Given the description of an element on the screen output the (x, y) to click on. 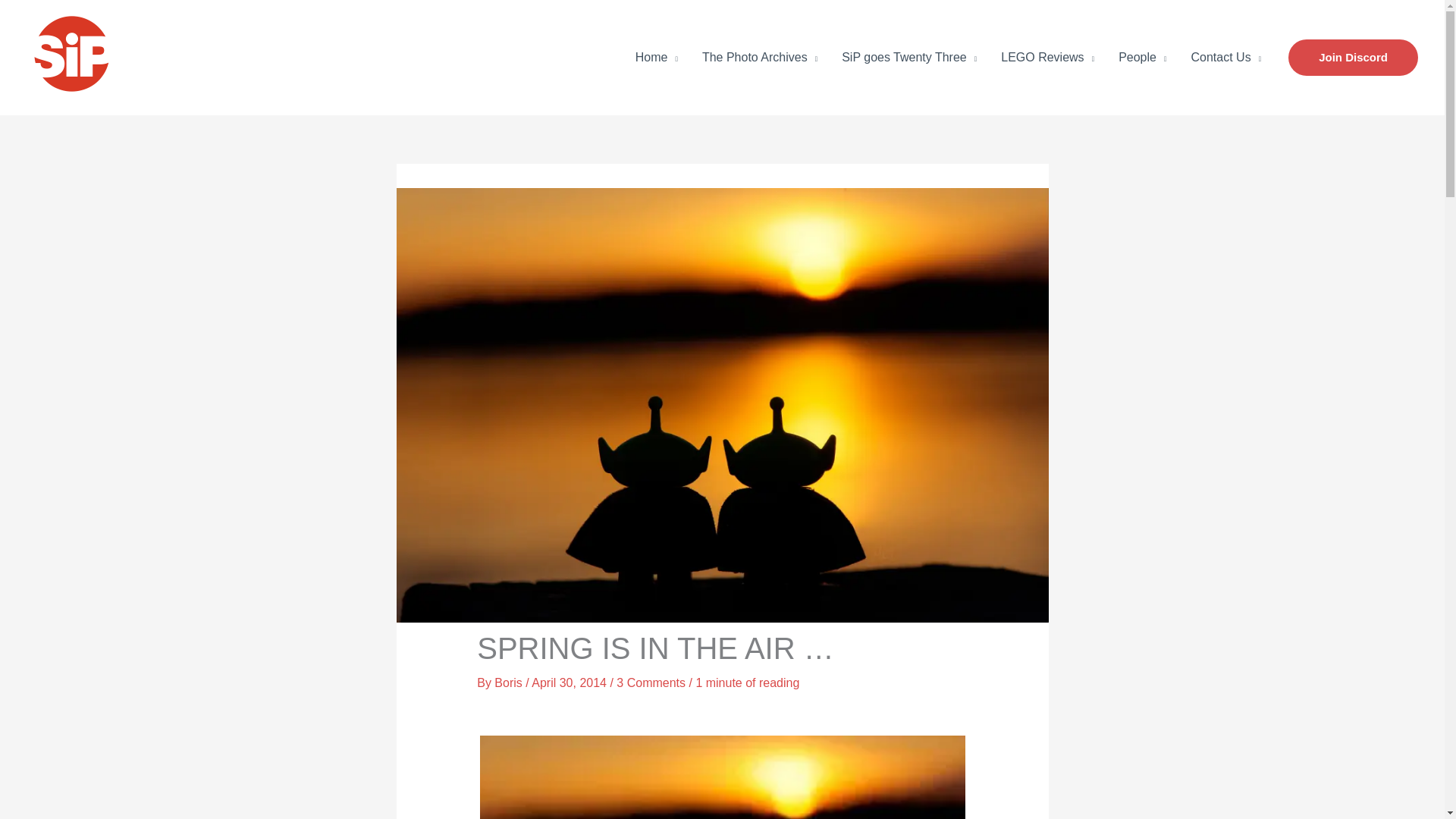
View all posts by Boris (510, 682)
Home (656, 57)
SiP goes Twenty Three (908, 57)
LEGO Reviews (1047, 57)
The Photo Archives (759, 57)
